Given the description of an element on the screen output the (x, y) to click on. 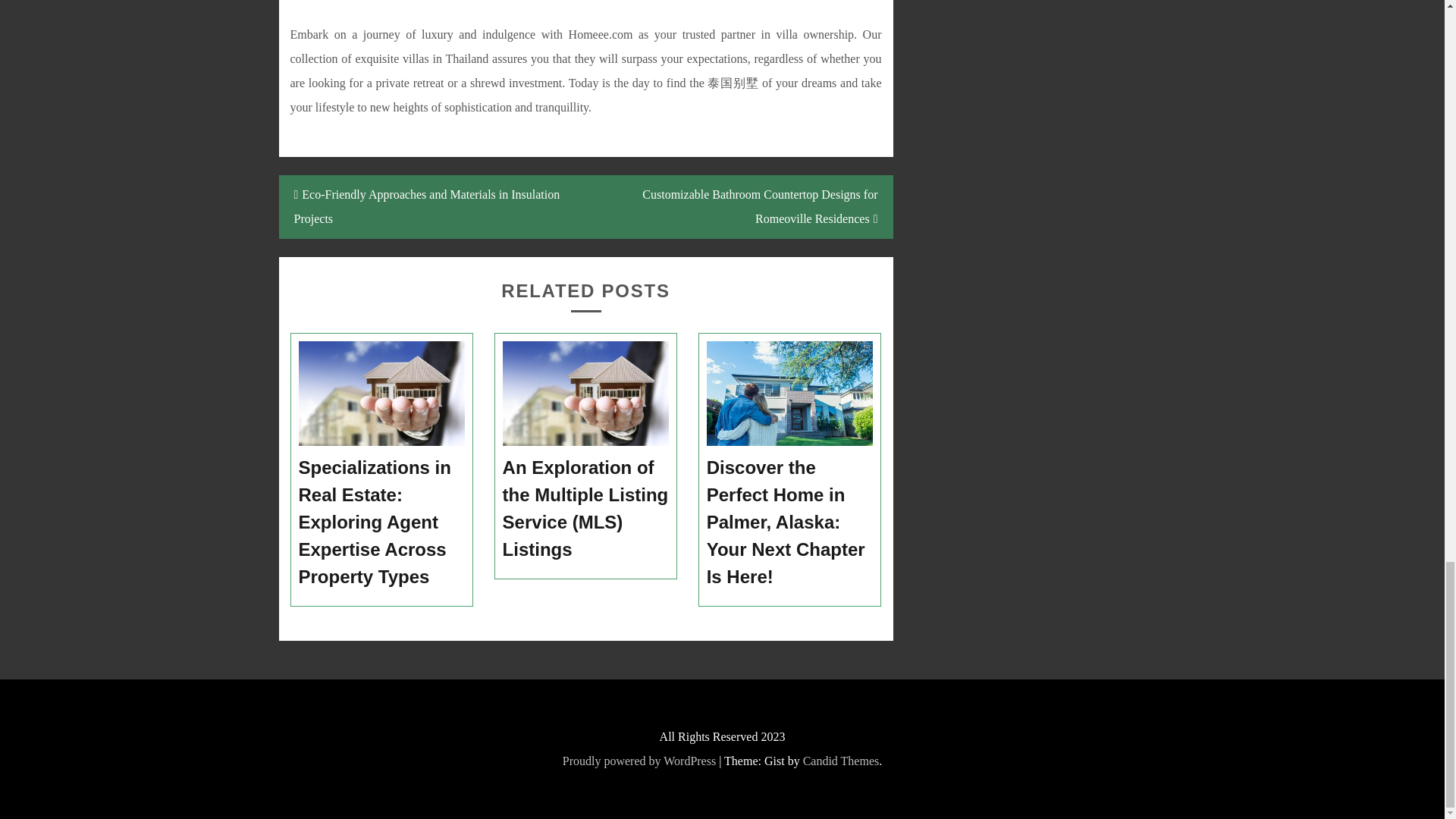
Candid Themes (841, 760)
Proudly powered by WordPress (639, 760)
Eco-Friendly Approaches and Materials in Insulation Projects (432, 207)
